Given the description of an element on the screen output the (x, y) to click on. 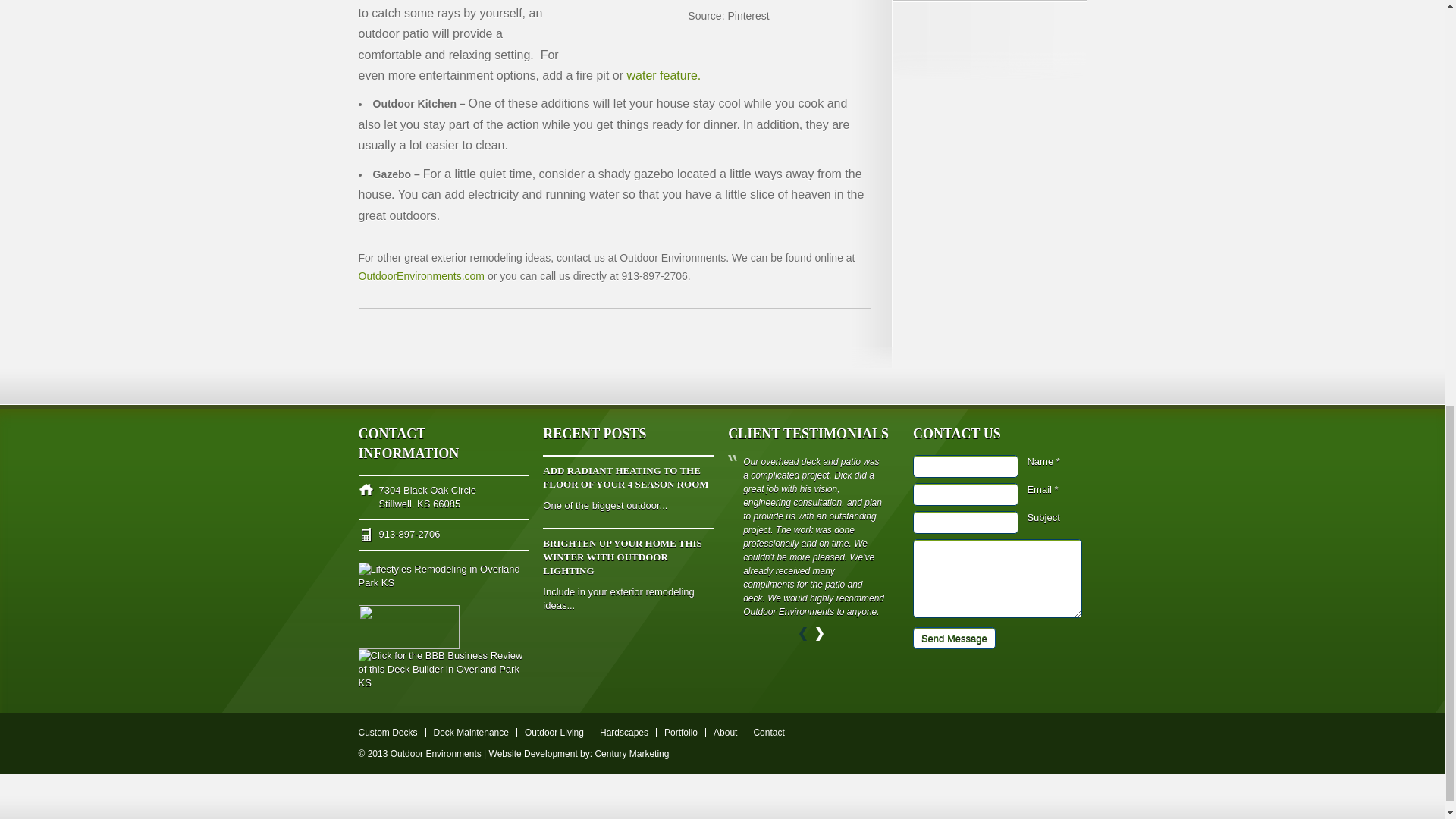
OutdoorEnvironments.com (421, 275)
Send Message (953, 638)
water feature. (663, 74)
